Given the description of an element on the screen output the (x, y) to click on. 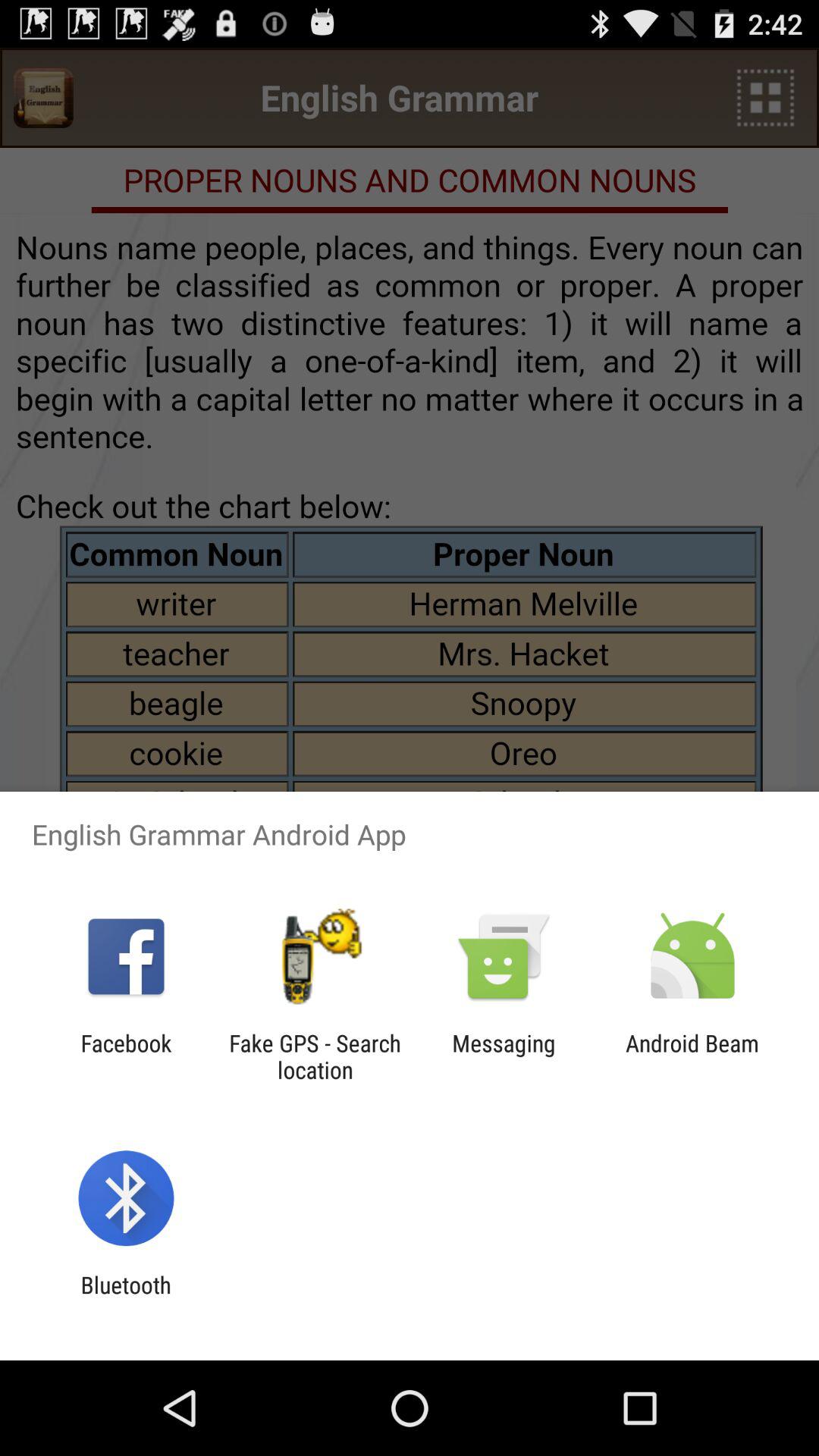
launch app to the right of fake gps search item (503, 1056)
